Given the description of an element on the screen output the (x, y) to click on. 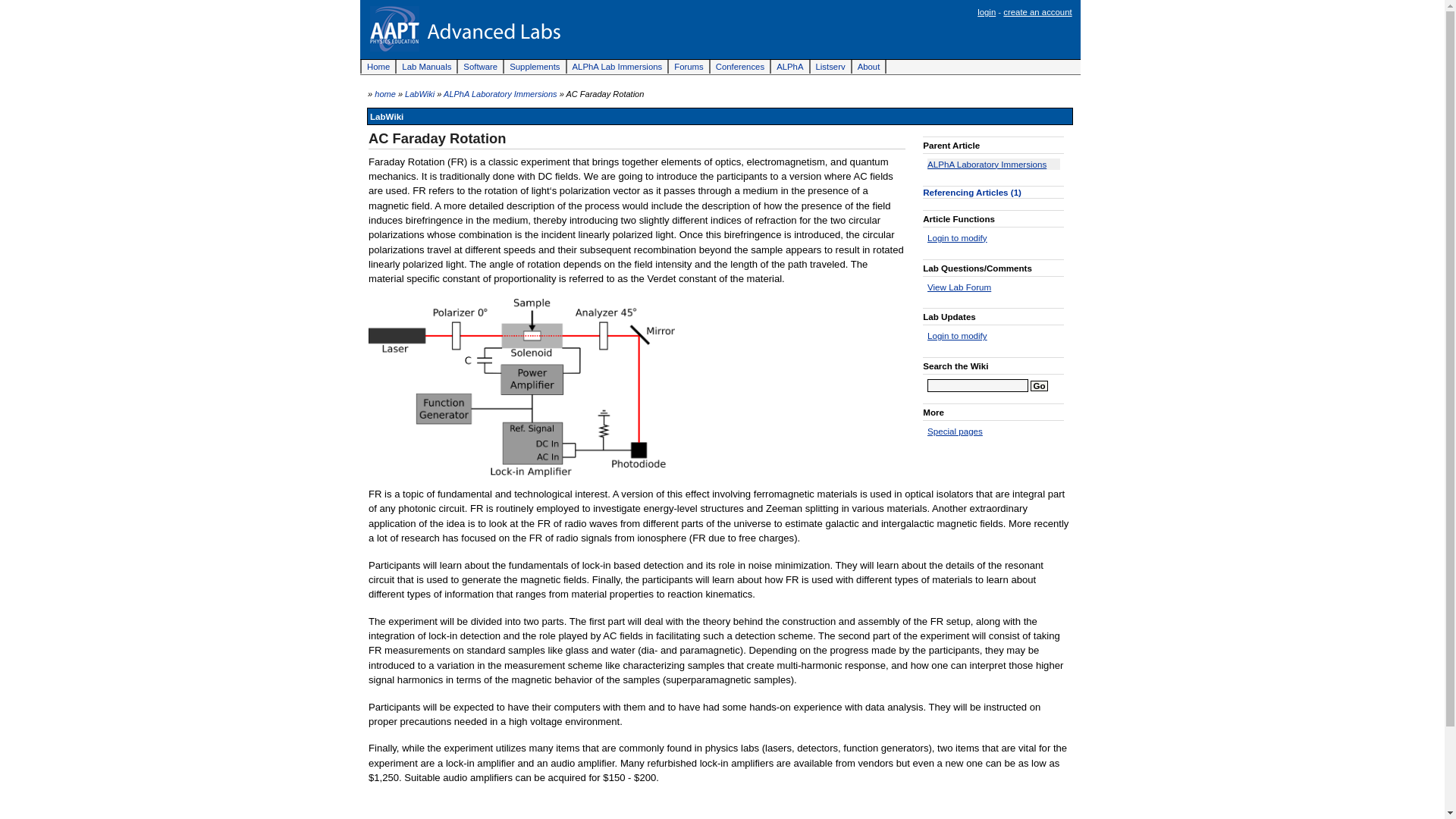
Lab Manuals (427, 66)
Software (480, 66)
Home (377, 66)
home (385, 93)
LabWiki (418, 93)
ALPhA Lab Immersions (618, 66)
ALPhA Laboratory Immersions (500, 93)
Forums (689, 66)
Supplements (534, 66)
